Given the description of an element on the screen output the (x, y) to click on. 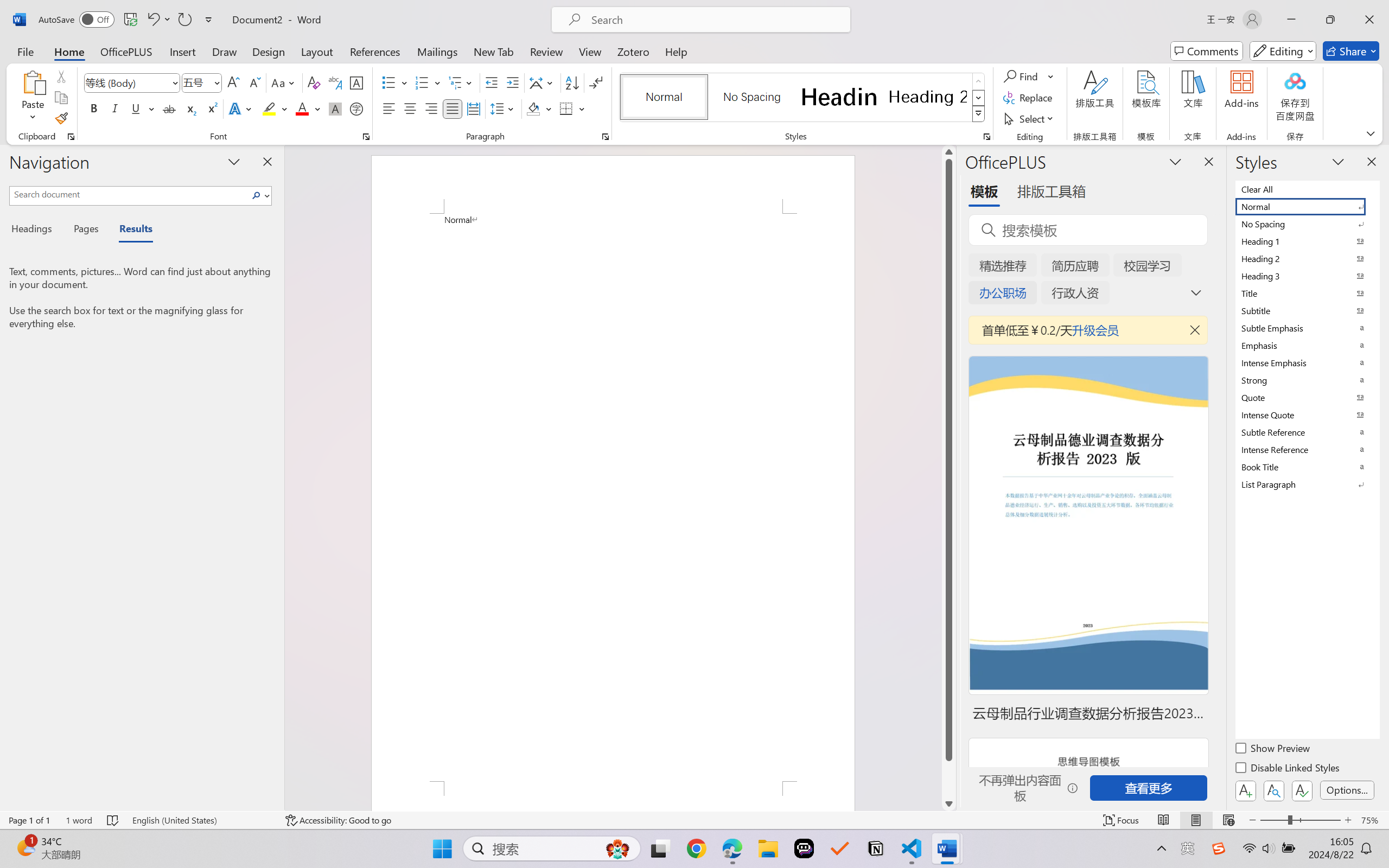
Shading RGB(0, 0, 0) (533, 108)
AutomationID: QuickStylesGallery (802, 97)
Character Border (356, 82)
Styles... (986, 136)
Font Color Red (302, 108)
Enclose Characters... (356, 108)
Zoom (1300, 819)
Language English (United States) (201, 819)
AutomationID: BadgeAnchorLargeTicker (24, 847)
Select (1030, 118)
Borders (571, 108)
Search (259, 195)
Book Title (1306, 466)
